Given the description of an element on the screen output the (x, y) to click on. 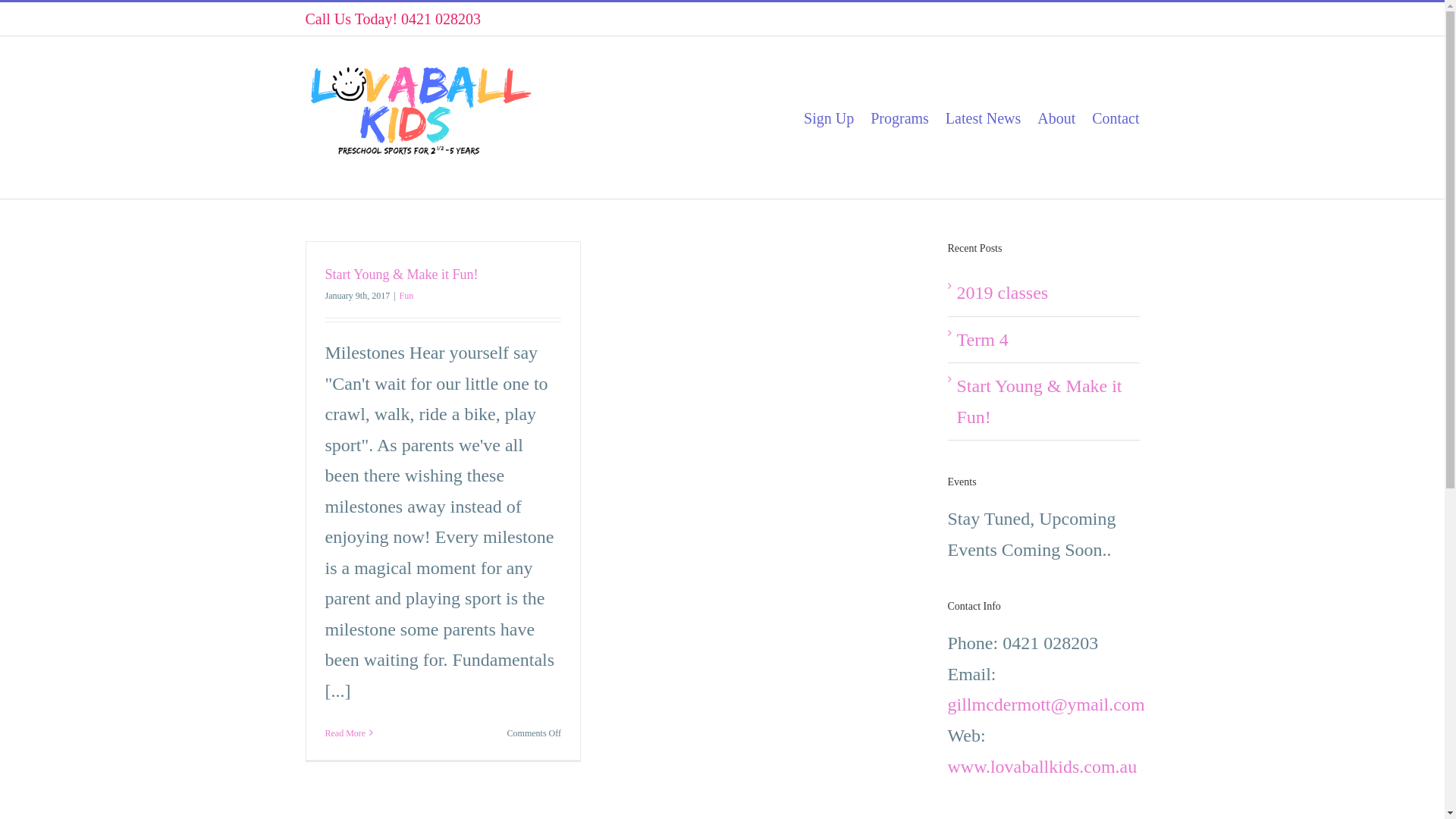
Term 4 Element type: text (982, 339)
gillmcdermott@ymail.com Element type: text (1046, 704)
About Element type: text (1056, 117)
Contact Element type: text (1115, 117)
www.lovaballkids.com.au Element type: text (1042, 766)
2019 classes Element type: text (1002, 292)
Latest News Element type: text (982, 117)
Facebook Element type: text (1105, 21)
Start Young & Make it Fun! Element type: text (1039, 401)
Start Young & Make it Fun! Element type: text (400, 274)
Sign Up Element type: text (828, 117)
Programs Element type: text (899, 117)
Fun Element type: text (406, 295)
Read More Element type: text (344, 733)
Email Element type: text (1132, 21)
